Given the description of an element on the screen output the (x, y) to click on. 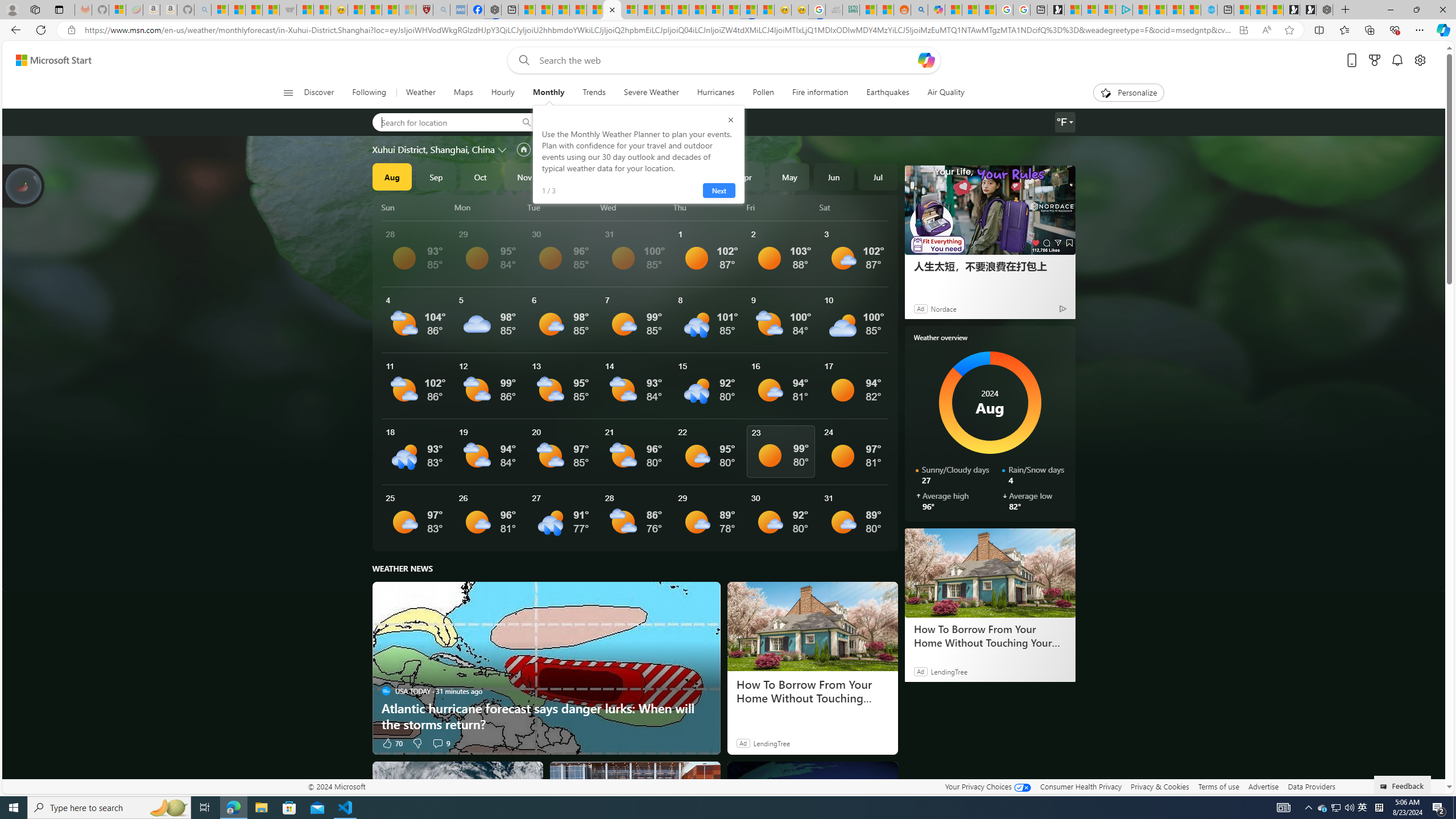
May (789, 176)
Severe Weather (651, 92)
USA TODAY (385, 690)
2025 Jan (612, 176)
Stocks - MSN (270, 9)
Earthquakes (887, 92)
Weather (420, 92)
Weather (420, 92)
